Given the description of an element on the screen output the (x, y) to click on. 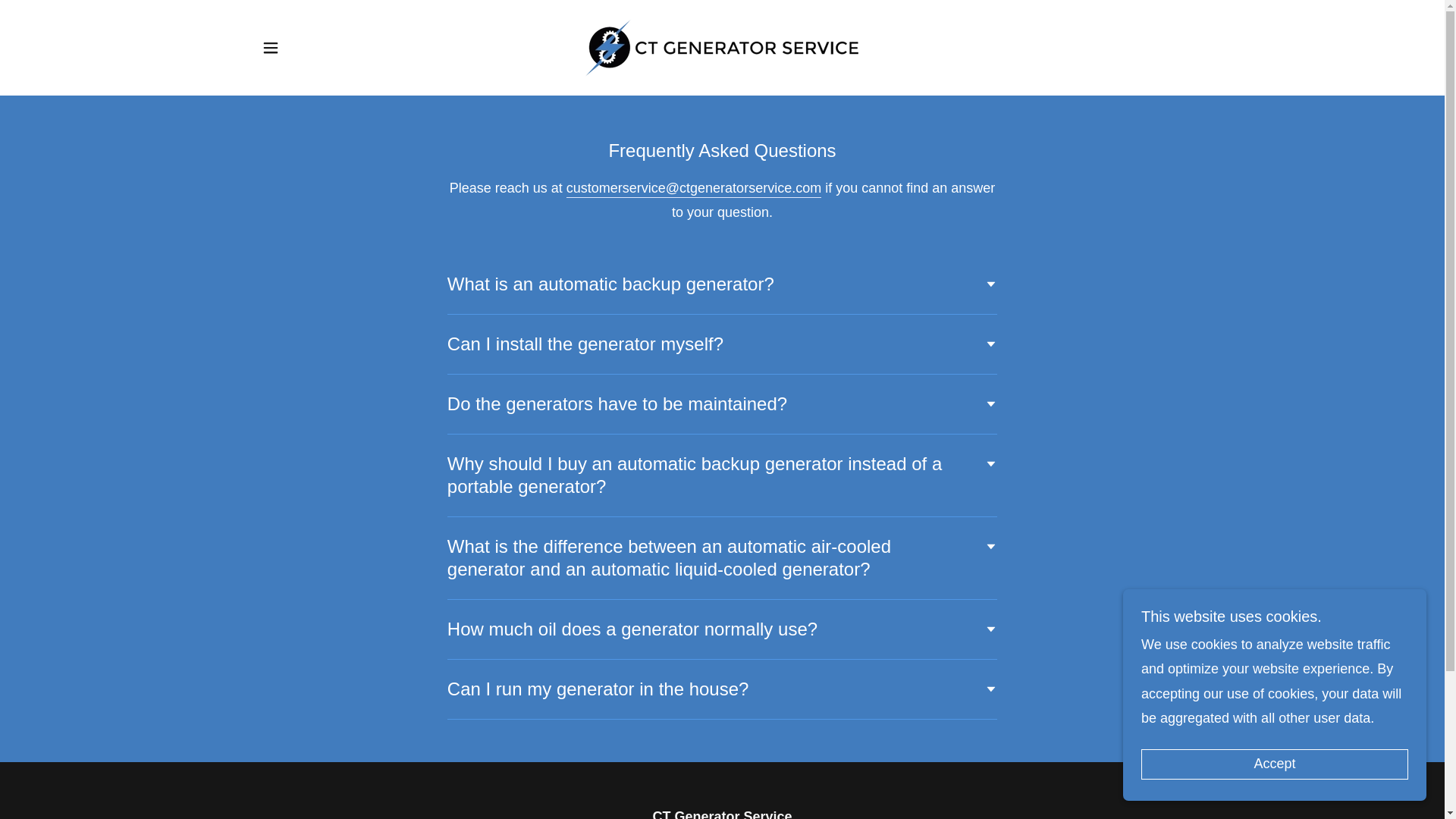
Accept (1274, 764)
How much oil does a generator normally use? (721, 629)
CT Generator Service (721, 46)
Can I install the generator myself? (721, 343)
Do the generators have to be maintained? (721, 403)
Can I run my generator in the house? (721, 688)
What is an automatic backup generator? (721, 284)
